Given the description of an element on the screen output the (x, y) to click on. 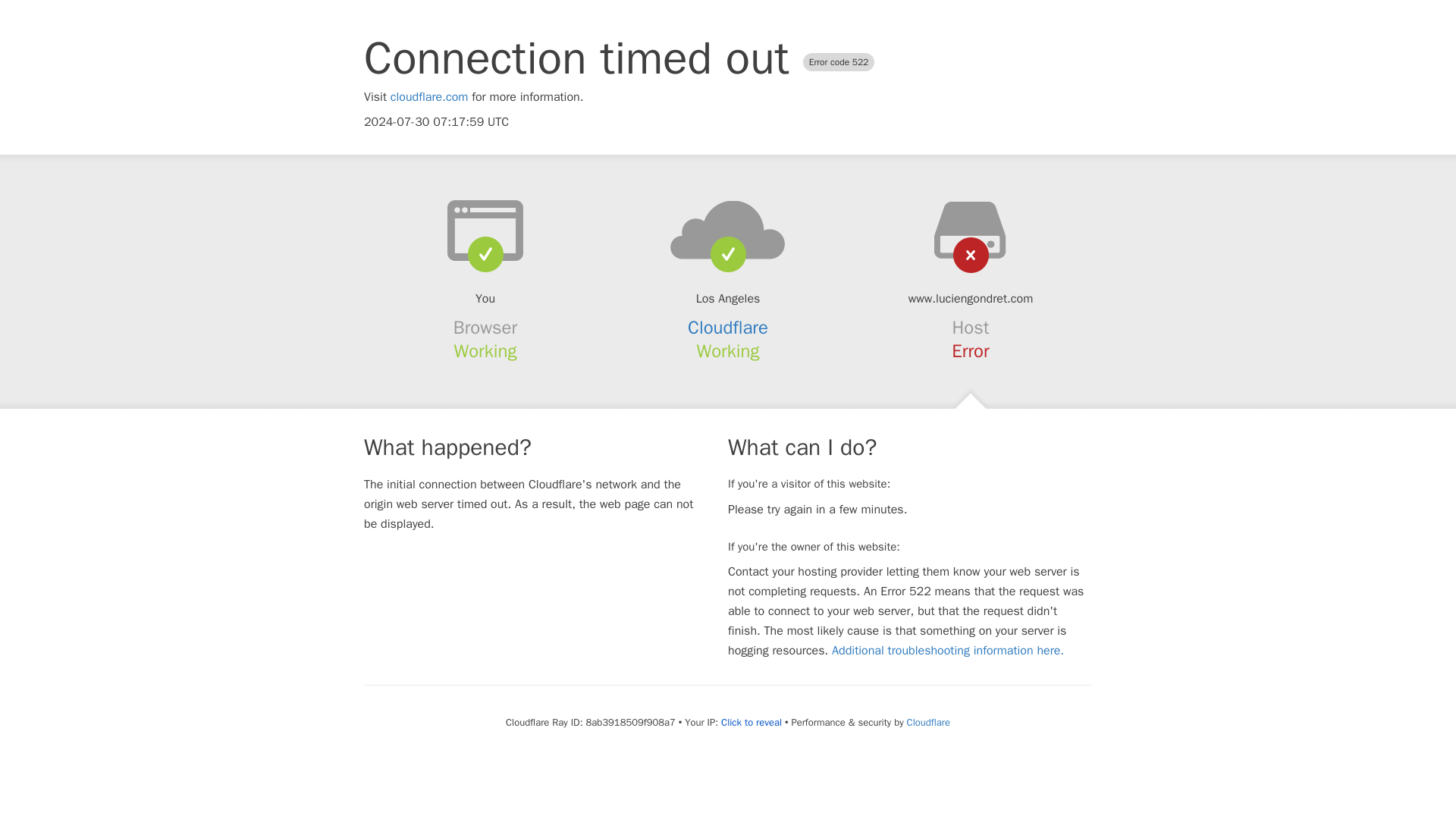
Cloudflare (928, 721)
cloudflare.com (429, 96)
Click to reveal (750, 722)
Cloudflare (727, 327)
Additional troubleshooting information here. (947, 650)
